Given the description of an element on the screen output the (x, y) to click on. 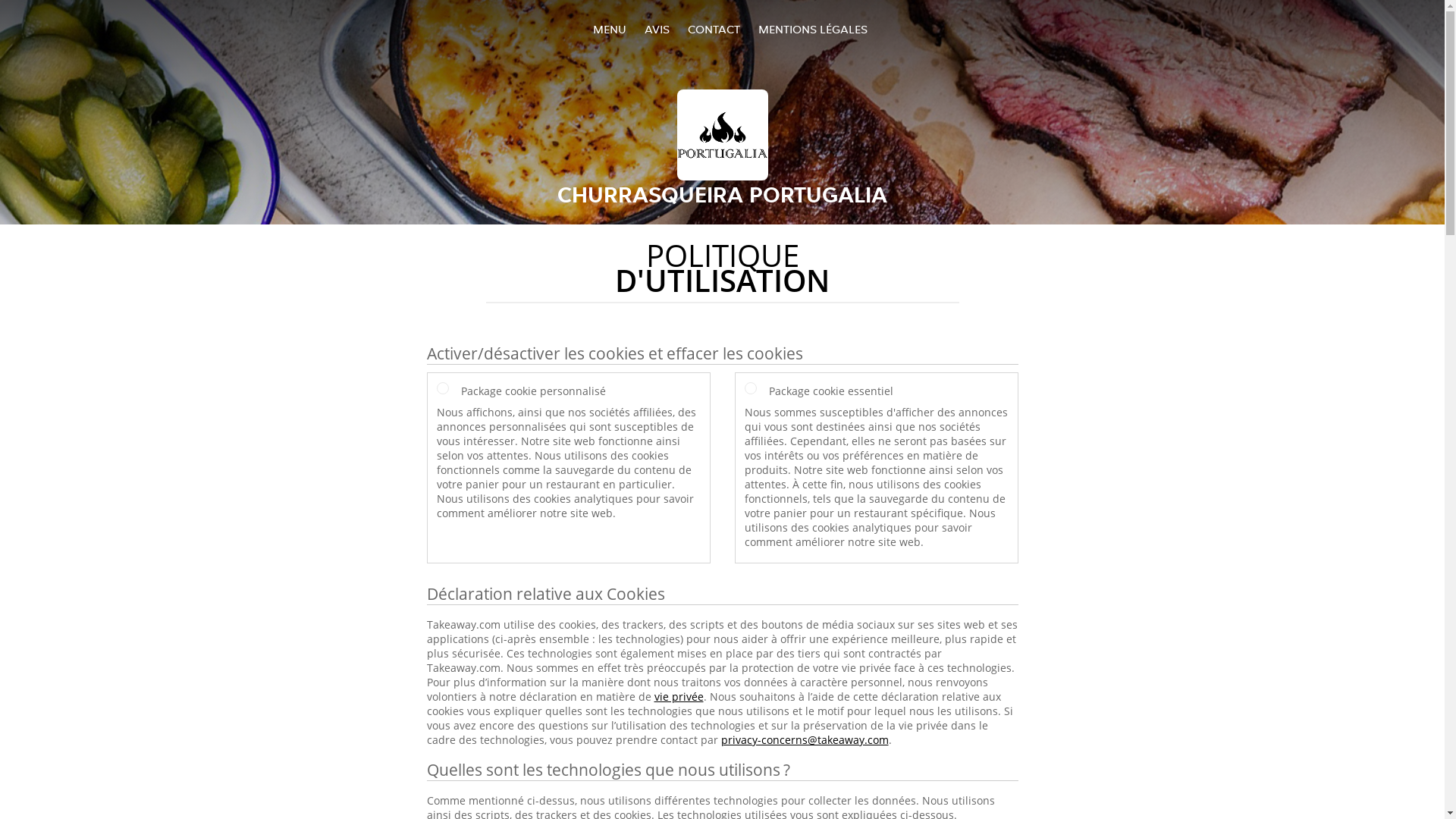
AVIS Element type: text (656, 29)
privacy-concerns@takeaway.com Element type: text (804, 739)
CONTACT Element type: text (713, 29)
MENU Element type: text (609, 29)
